Given the description of an element on the screen output the (x, y) to click on. 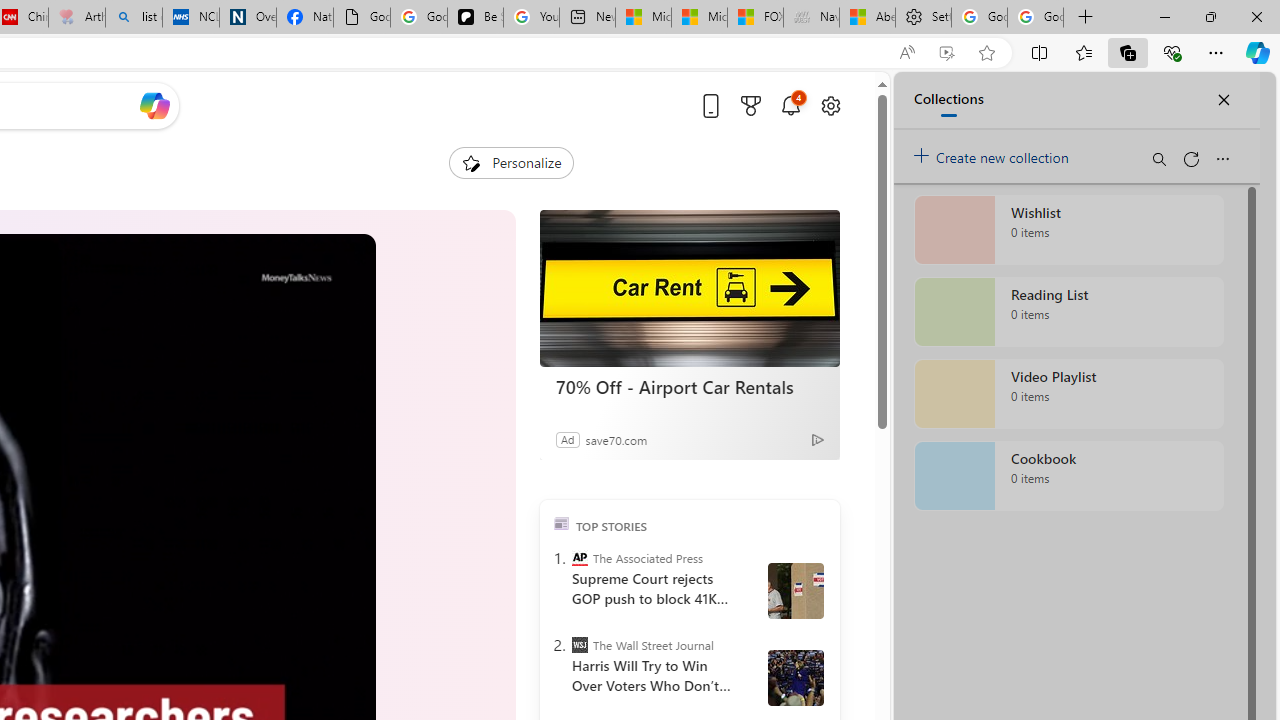
Arthritis: Ask Health Professionals - Sleeping (76, 17)
70% Off - Airport Car Rentals (689, 288)
Enhance video (946, 53)
